Given the description of an element on the screen output the (x, y) to click on. 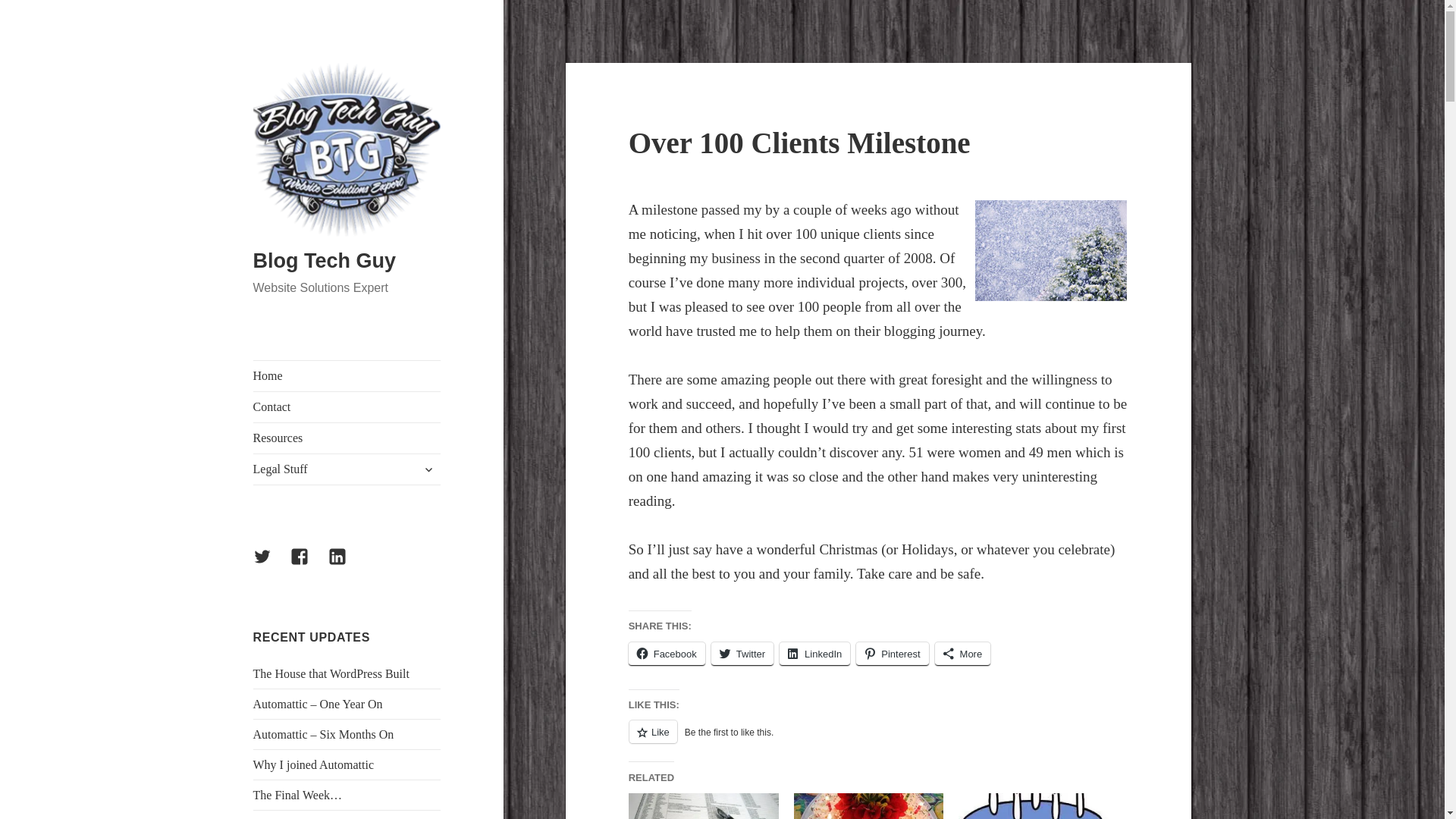
Click to share on LinkedIn (814, 653)
expand child menu (428, 469)
Blog Tech Guy (324, 260)
LinkedIn (347, 565)
Twitter (271, 565)
Resources (347, 438)
The House that WordPress Built (331, 673)
Click to share on Twitter (742, 653)
Why I joined Automattic (313, 764)
Click to share on Facebook (666, 653)
Contact (347, 407)
Click to share on Pinterest (892, 653)
Snowy tree (1050, 250)
Three Years and Three Hundred Clients (1033, 806)
Home (347, 376)
